Given the description of an element on the screen output the (x, y) to click on. 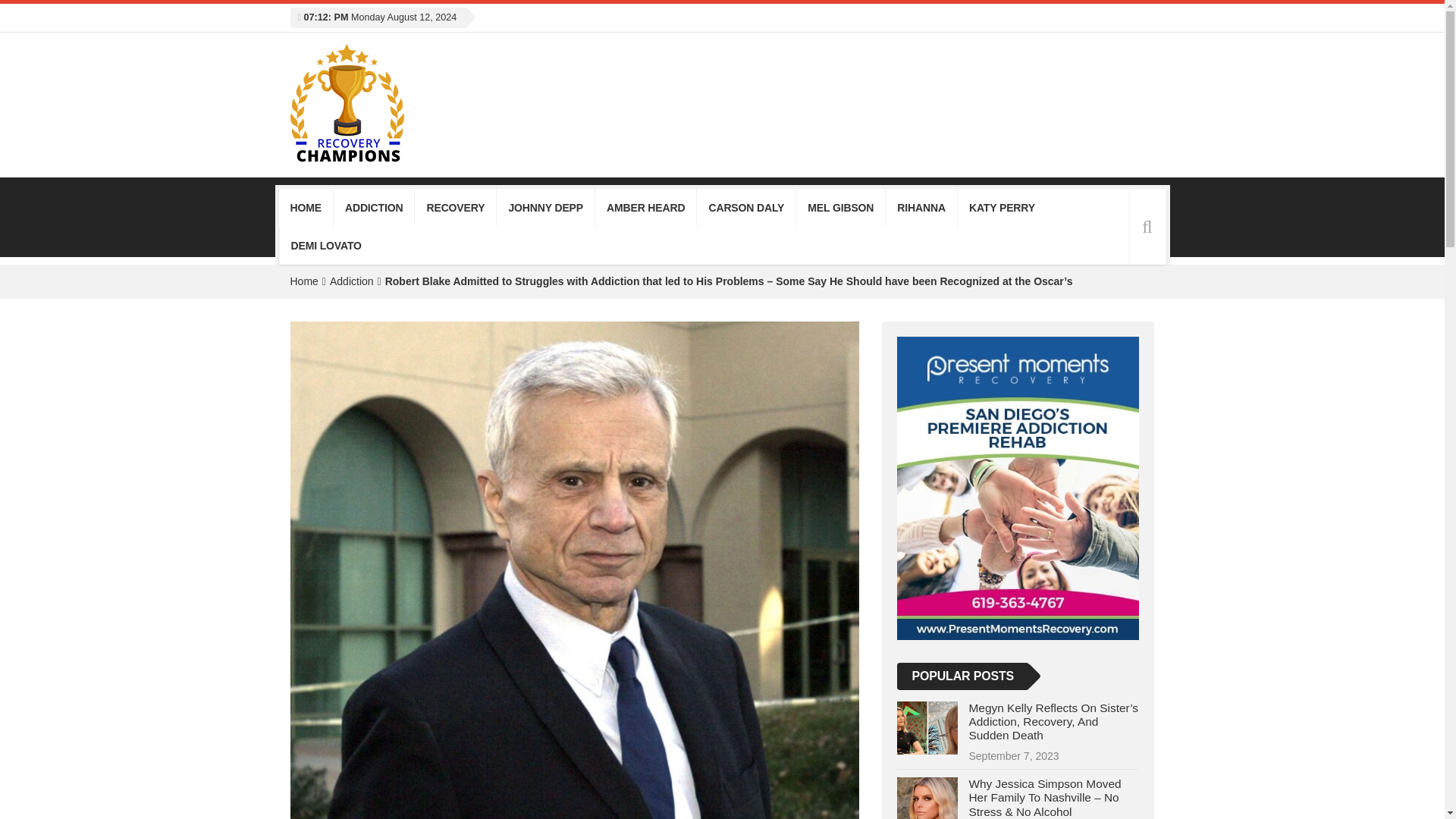
Home (303, 281)
AMBER HEARD (645, 207)
Home (303, 281)
RECOVERY (455, 207)
DEMI LOVATO (325, 245)
KATY PERRY (1002, 207)
CARSON DALY (745, 207)
HOME (306, 207)
ADDICTION (373, 207)
RIHANNA (920, 207)
